Given the description of an element on the screen output the (x, y) to click on. 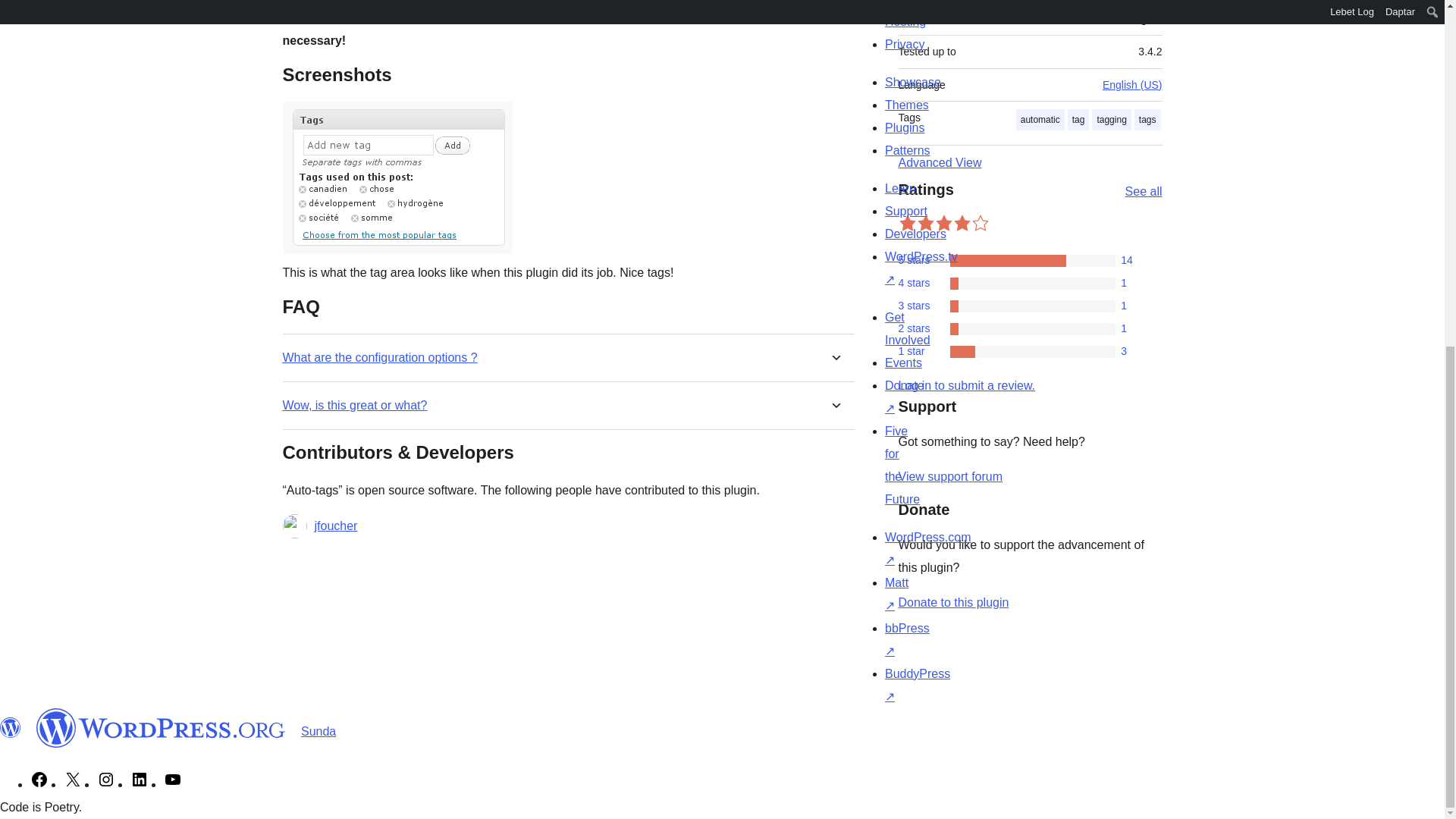
What are the configuration options ? (379, 357)
jfoucher (335, 526)
WordPress.org (160, 727)
Log in to WordPress.org (966, 385)
Wow, is this great or what? (354, 405)
WordPress.org (10, 727)
